Given the description of an element on the screen output the (x, y) to click on. 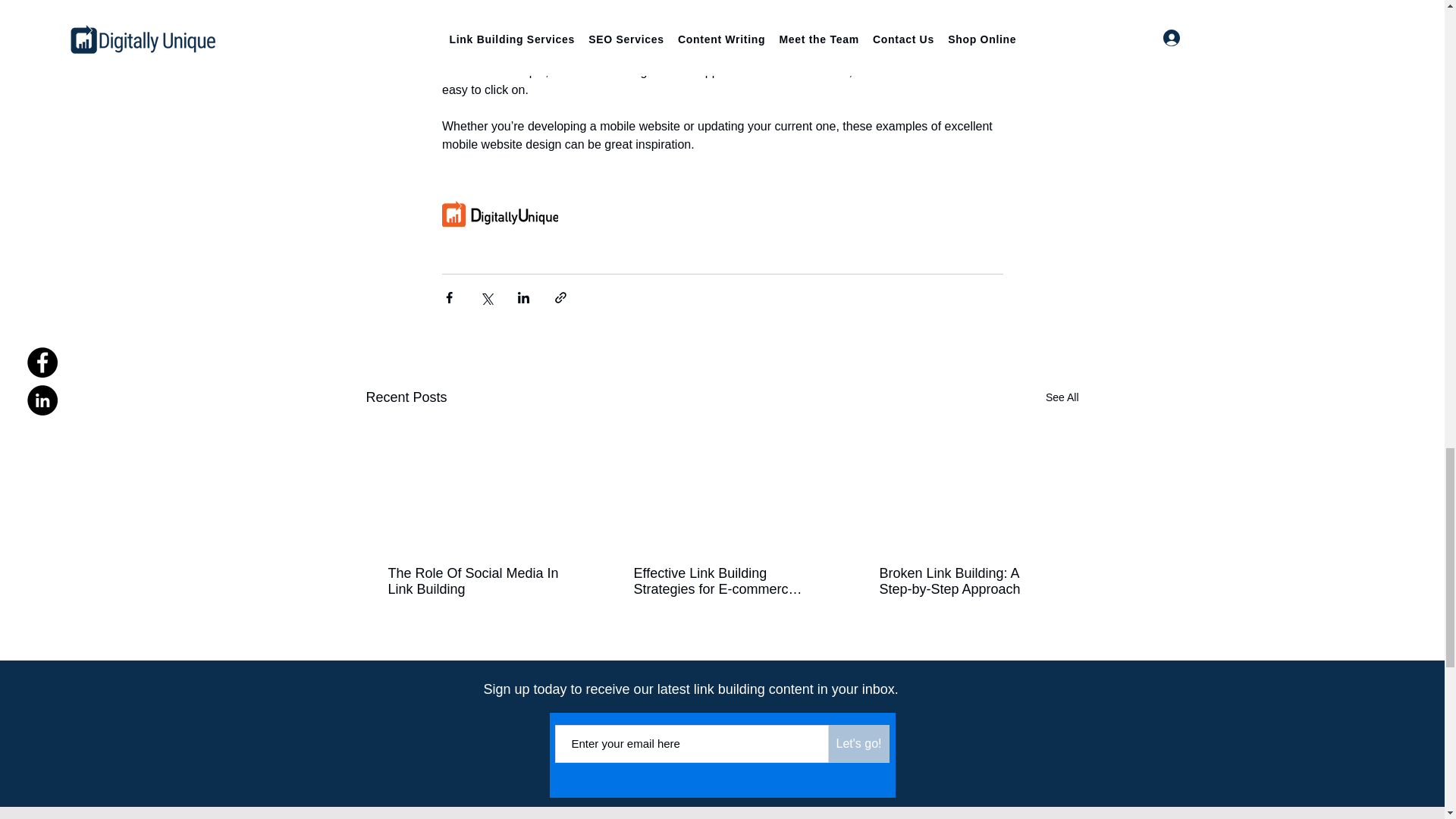
Broken Link Building: A Step-by-Step Approach (967, 581)
Effective Link Building Strategies for E-commerce Websites (721, 581)
Evernote (801, 16)
Let's go! (858, 743)
The Role Of Social Media In Link Building (476, 581)
See All (1061, 397)
